Given the description of an element on the screen output the (x, y) to click on. 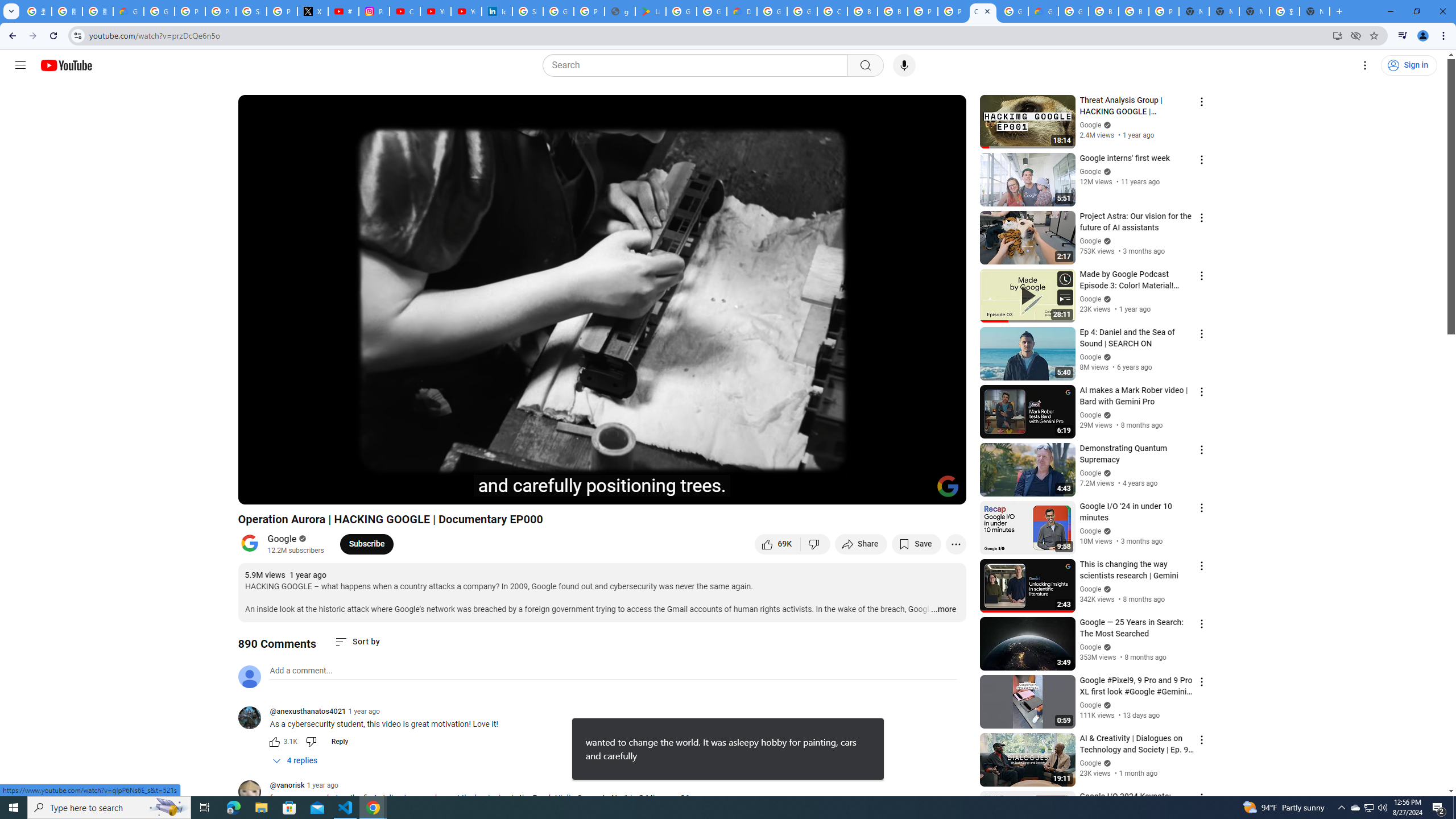
Channel watermark (947, 486)
Subscribe to Google. (366, 543)
@vanorisk (286, 785)
Pause (k) (257, 490)
Next (SHIFT+n) (284, 490)
Sign in - Google Accounts (251, 11)
Reply (339, 741)
